Given the description of an element on the screen output the (x, y) to click on. 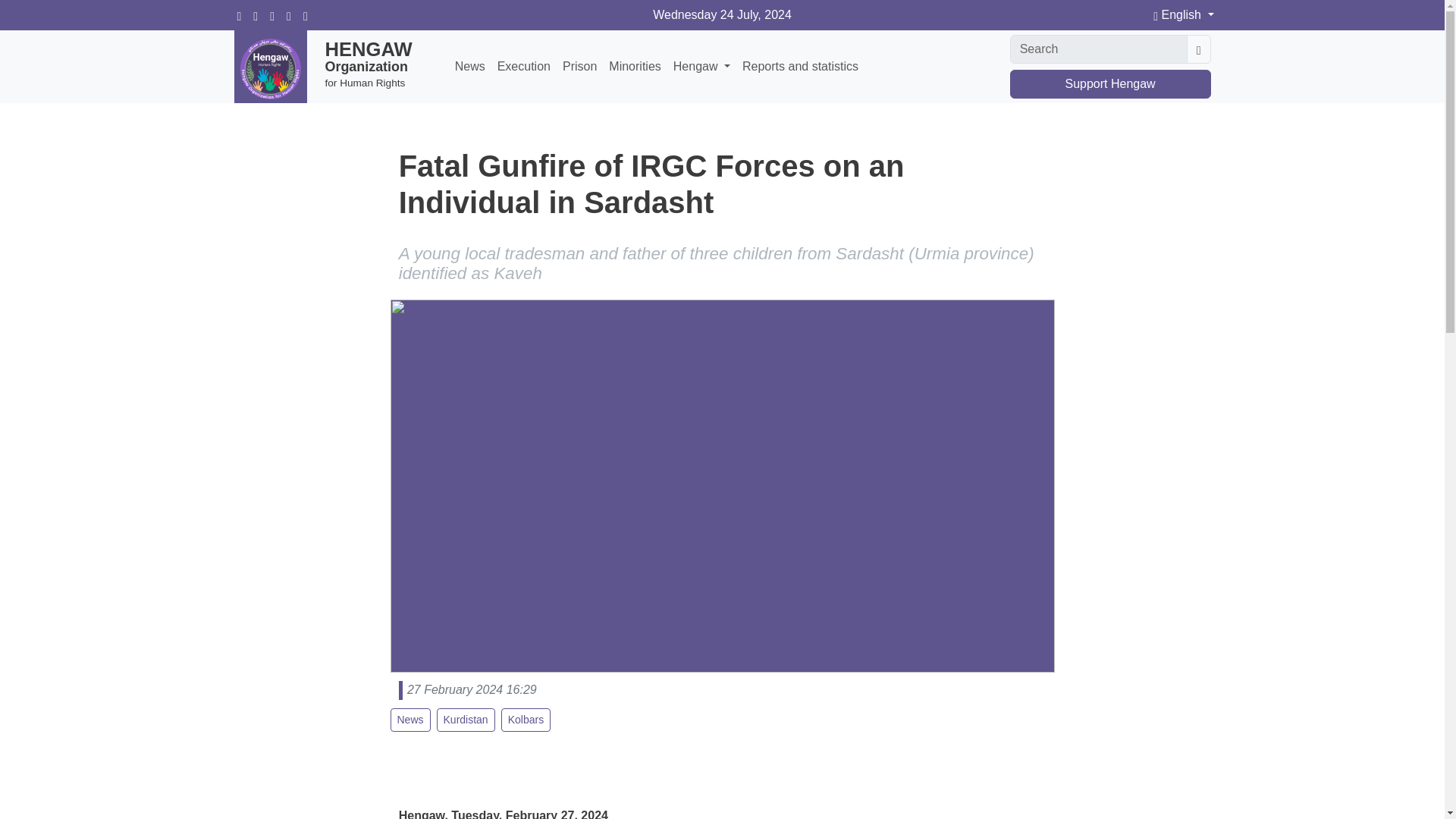
Kurdistan (465, 720)
Execution (524, 66)
Reports and statistics (800, 66)
Hengaw (701, 66)
News (470, 66)
Support Hengaw (1110, 83)
Prison (579, 66)
News (409, 720)
English (1182, 14)
Kolbars (525, 720)
Minorities (634, 66)
